Given the description of an element on the screen output the (x, y) to click on. 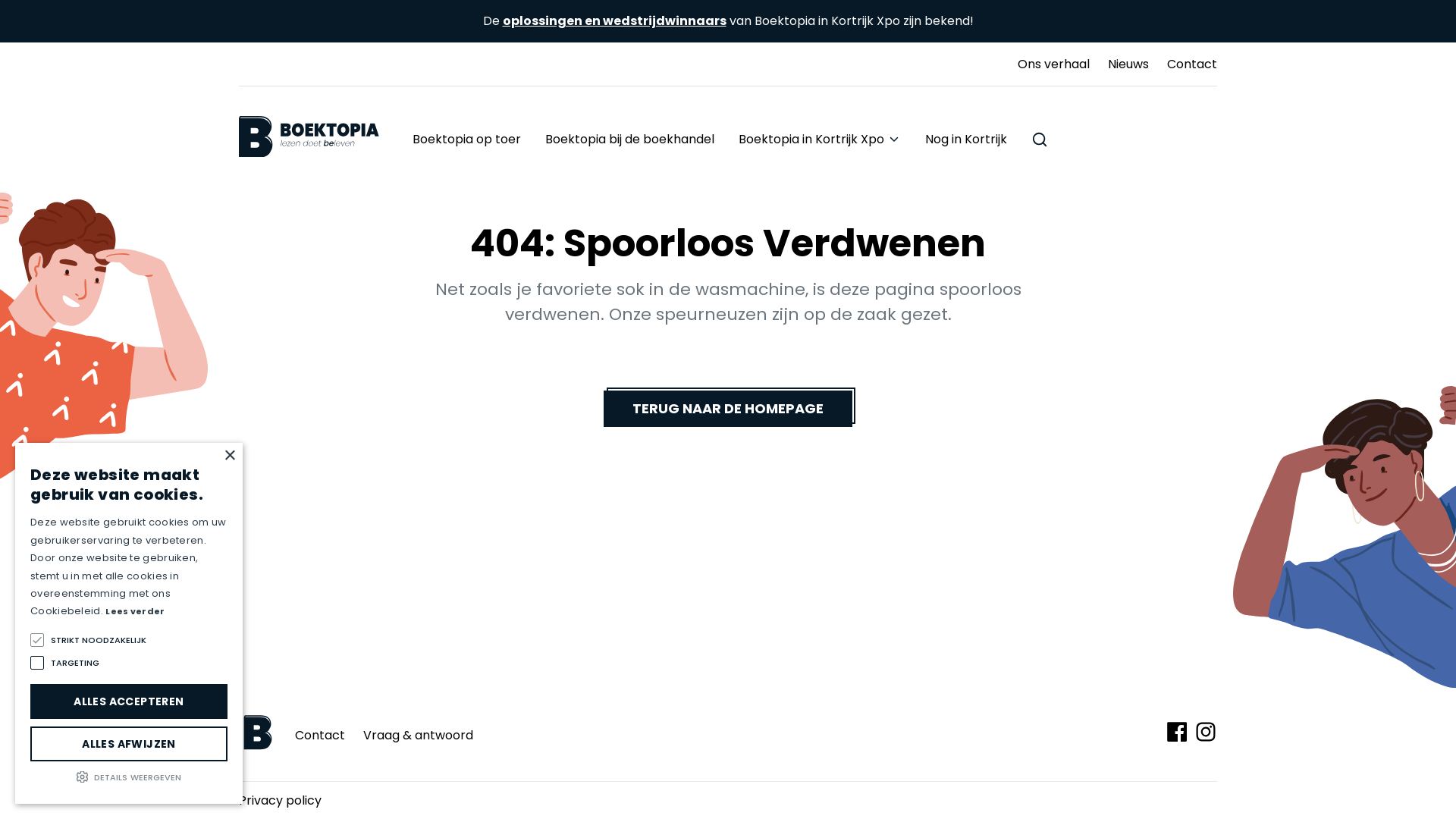
TERUG NAAR DE HOMEPAGE Element type: text (727, 408)
Nog in Kortrijk Element type: text (966, 139)
Vraag & antwoord Element type: text (418, 733)
Boektopia bij de boekhandel Element type: text (629, 139)
Boektopia in Kortrijk Xpo Element type: text (819, 139)
Ons verhaal Element type: text (1053, 63)
Lees verder Element type: text (134, 611)
Privacy policy Element type: text (279, 799)
Boektopia op toer Element type: text (466, 139)
oplossingen en wedstrijdwinnaars Element type: text (613, 21)
Contact Element type: text (1192, 63)
Nieuws Element type: text (1127, 63)
Contact Element type: text (319, 733)
